Given the description of an element on the screen output the (x, y) to click on. 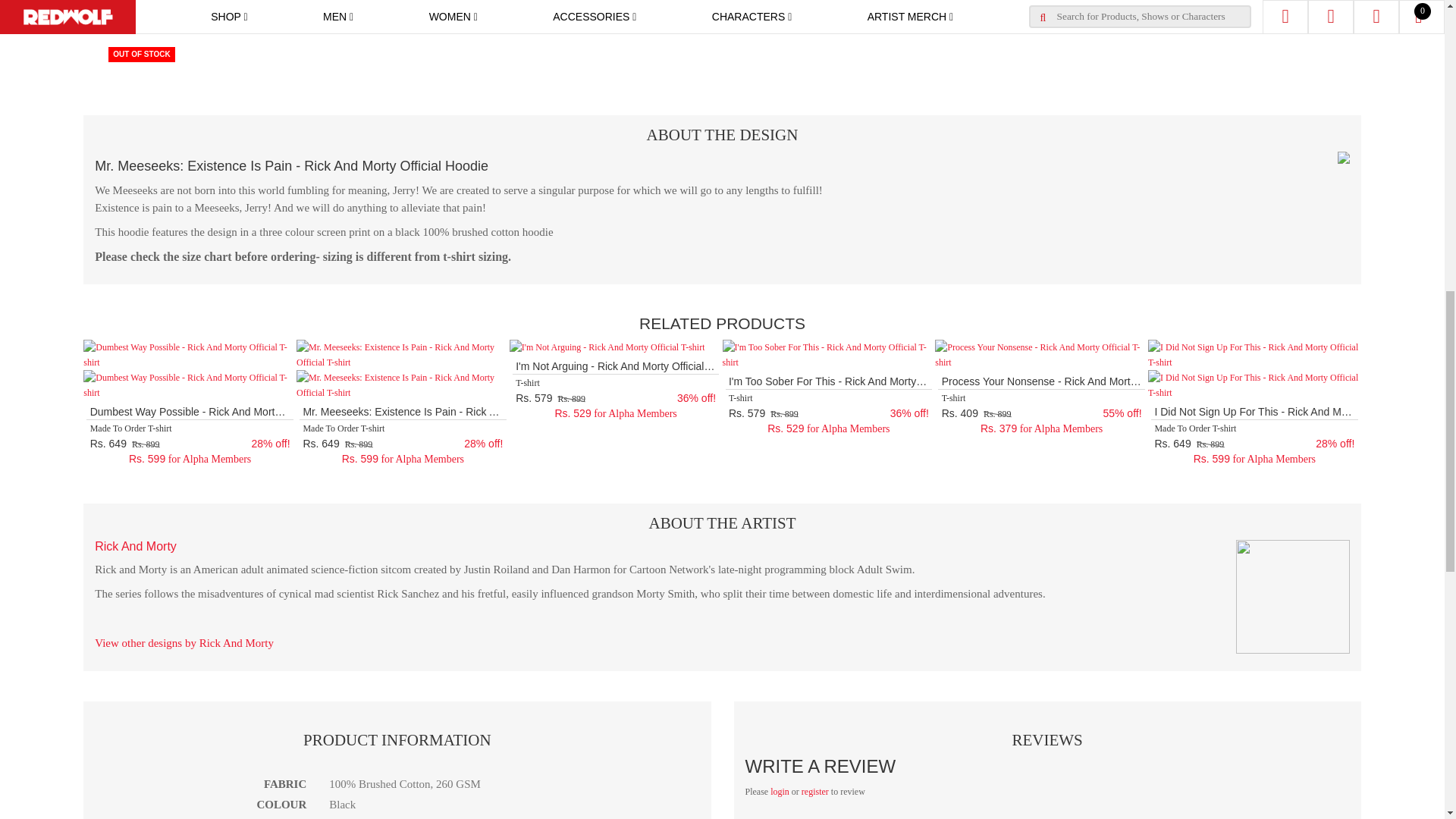
I'm Not Arguing - Rick And Morty Official T-shirt (606, 346)
Process Your Nonsense - Rick And Morty Official T-shirt (1041, 354)
I'm Too Sober For This - Rick And Morty Official T-shirt (828, 354)
Dumbest Way Possible - Rick And Morty Official T-shirt (189, 354)
I Did Not Sign Up For This - Rick And Morty Official T-shirt (1254, 354)
